Given the description of an element on the screen output the (x, y) to click on. 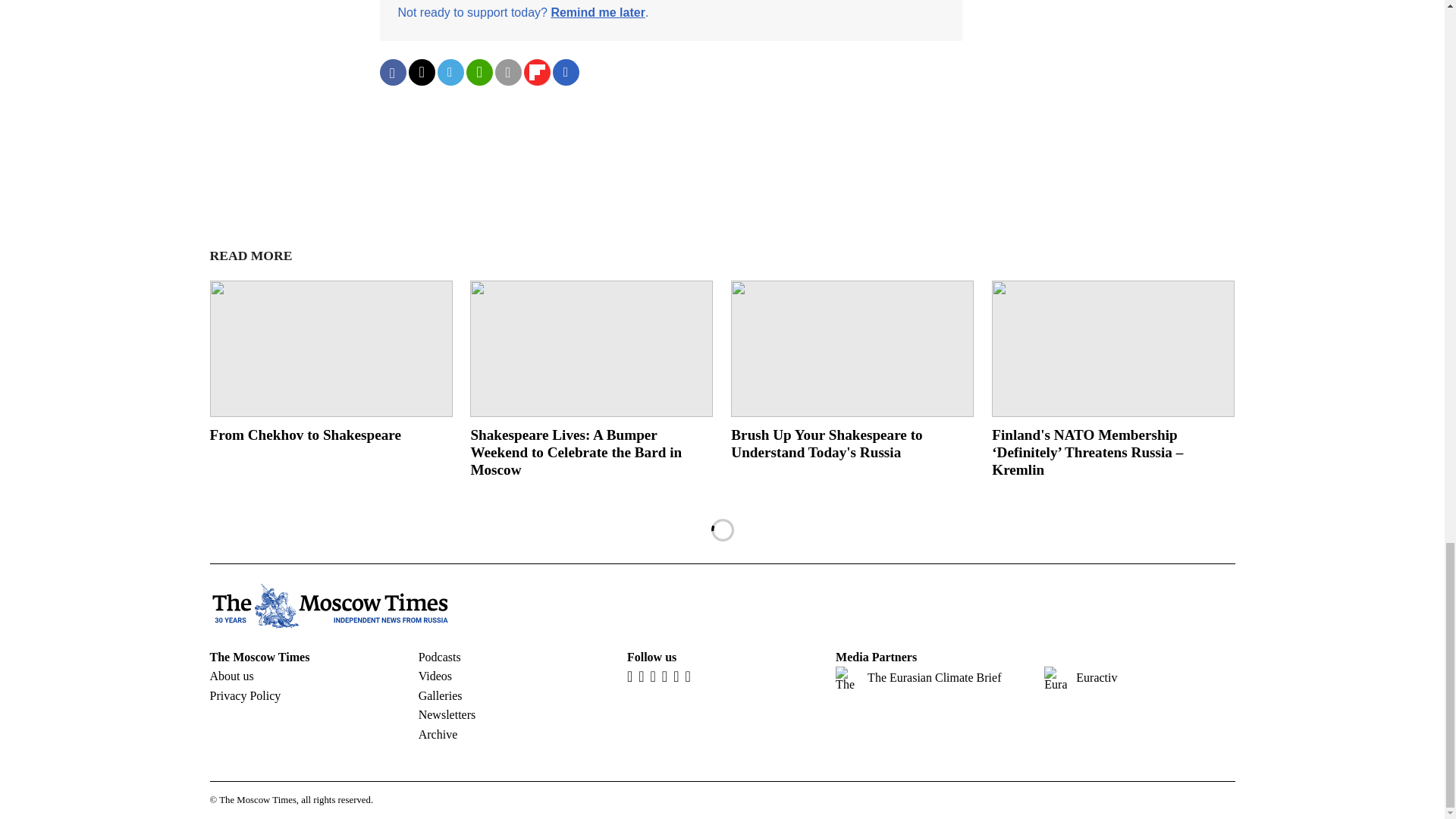
Share on Facebook (392, 71)
Share on Telegram (449, 71)
Share on Flipboard (536, 71)
Share on Twitter (420, 71)
